Given the description of an element on the screen output the (x, y) to click on. 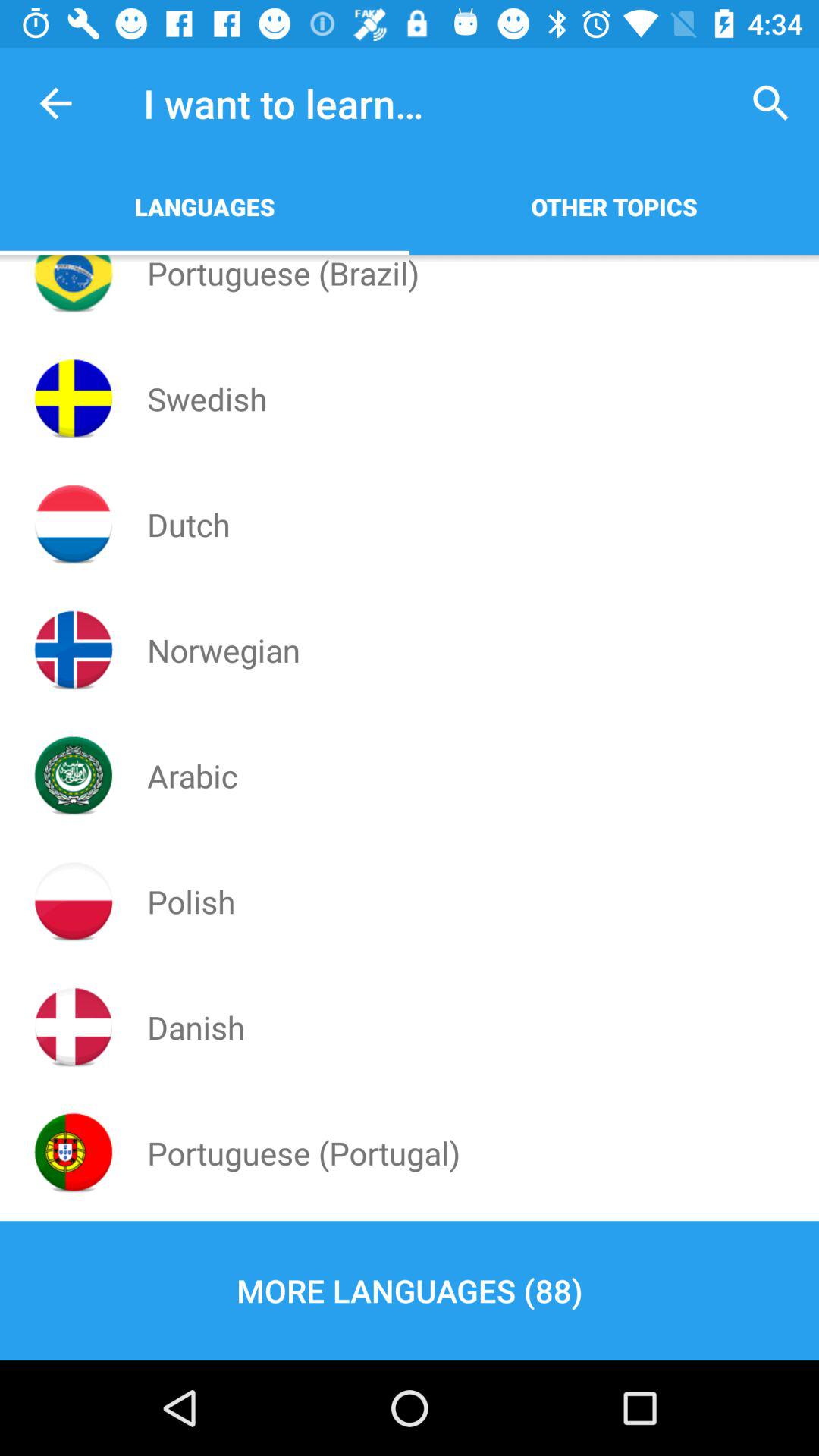
swipe to more languages (88) item (409, 1290)
